Given the description of an element on the screen output the (x, y) to click on. 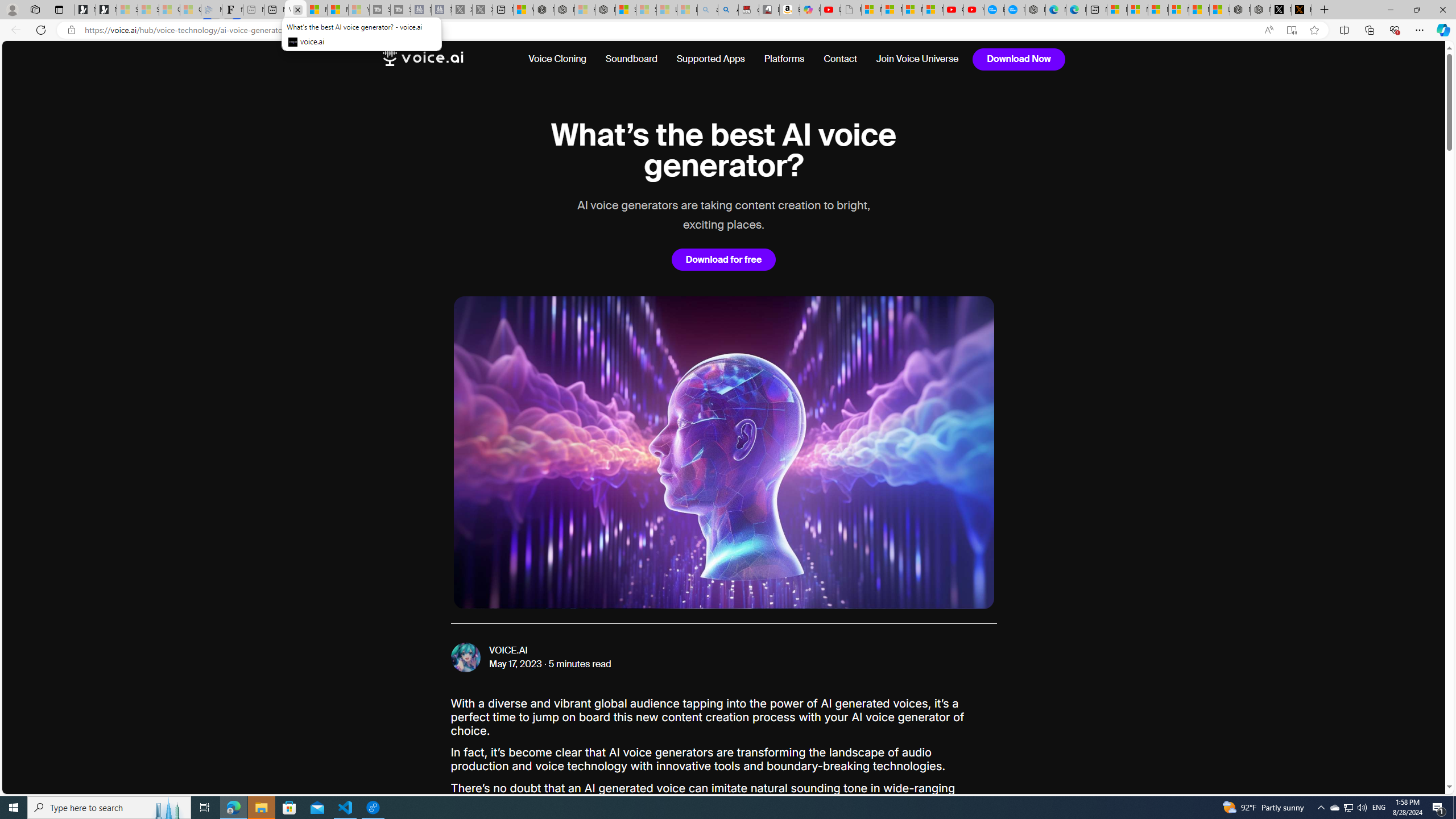
Join Voice Universe (917, 59)
Nordace - Nordace has arrived Hong Kong (1034, 9)
Microsoft account | Microsoft Account Privacy Settings (1137, 9)
help.x.com | 524: A timeout occurred (1301, 9)
Gloom - YouTube (953, 9)
